Given the description of an element on the screen output the (x, y) to click on. 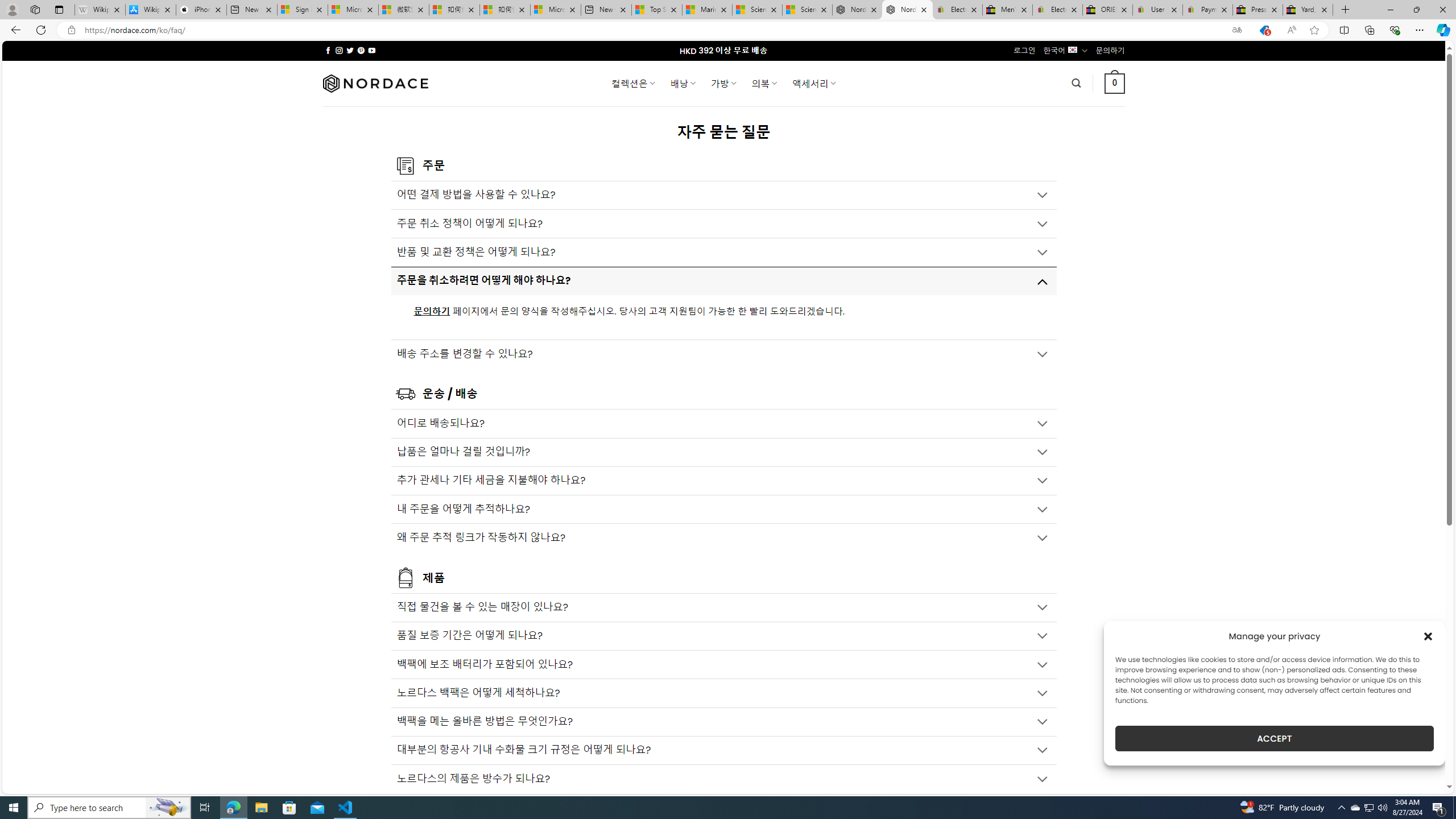
ACCEPT (1274, 738)
 0  (1115, 83)
